Given the description of an element on the screen output the (x, y) to click on. 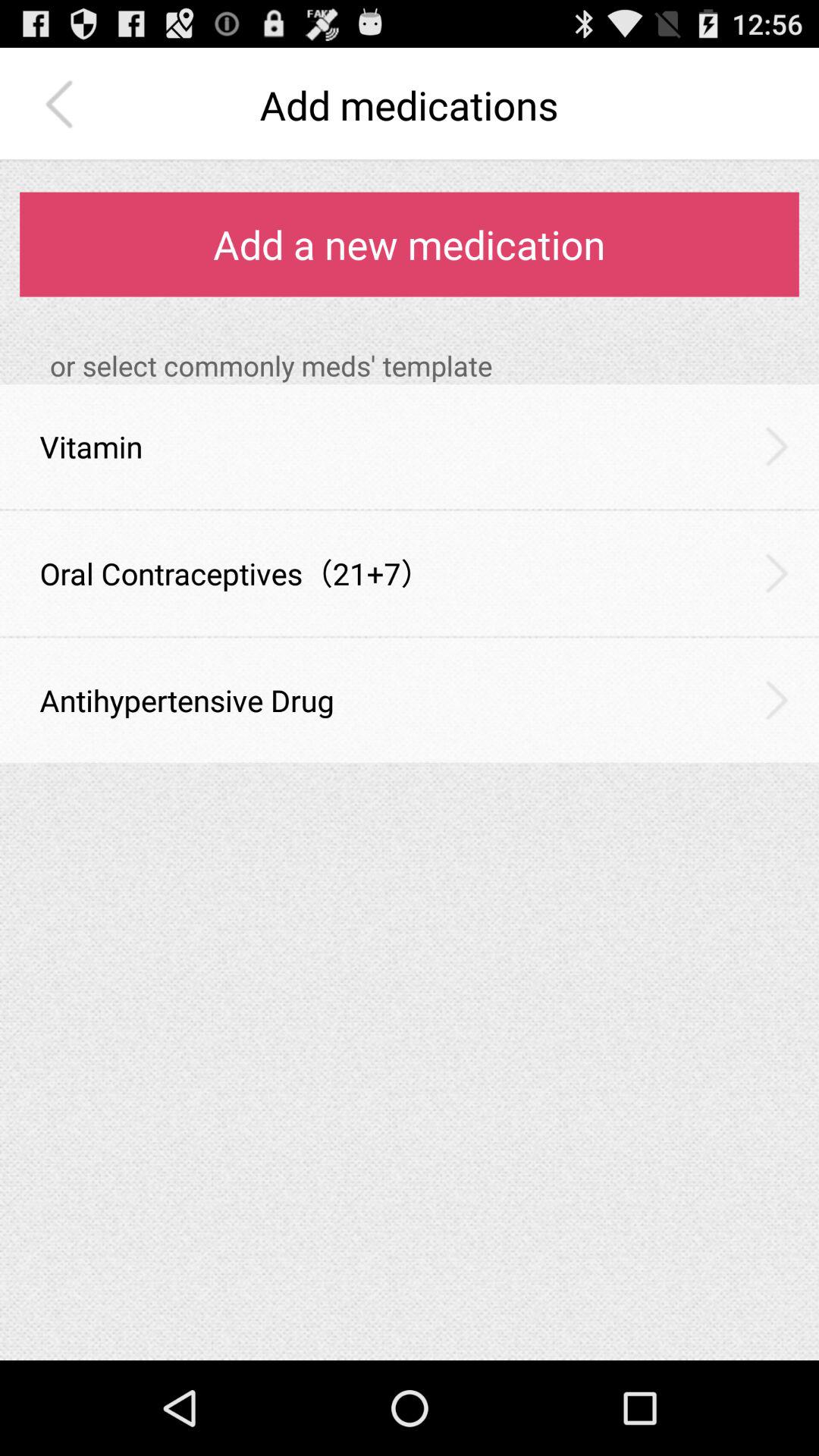
tap the item at the top right corner (776, 445)
